Given the description of an element on the screen output the (x, y) to click on. 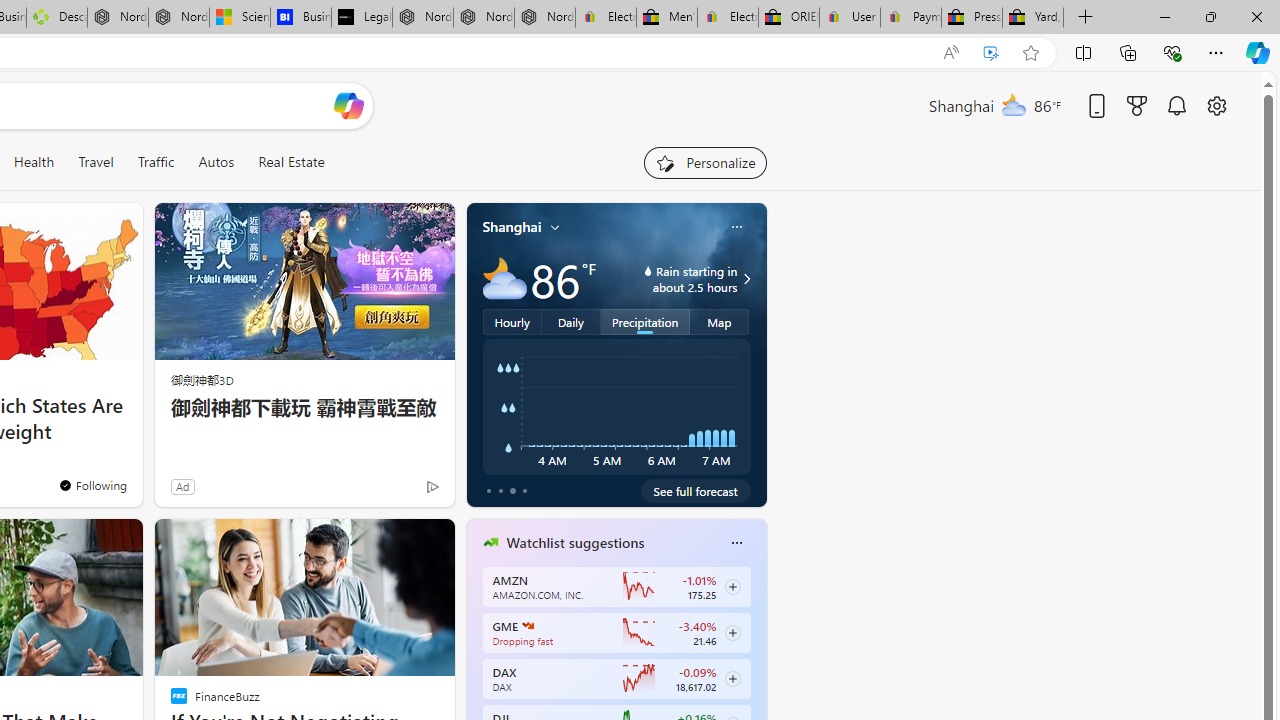
My location (555, 227)
tab-2 (511, 490)
tab-1 (500, 490)
You're following The Weather Channel (390, 490)
tab-3 (524, 490)
